Given the description of an element on the screen output the (x, y) to click on. 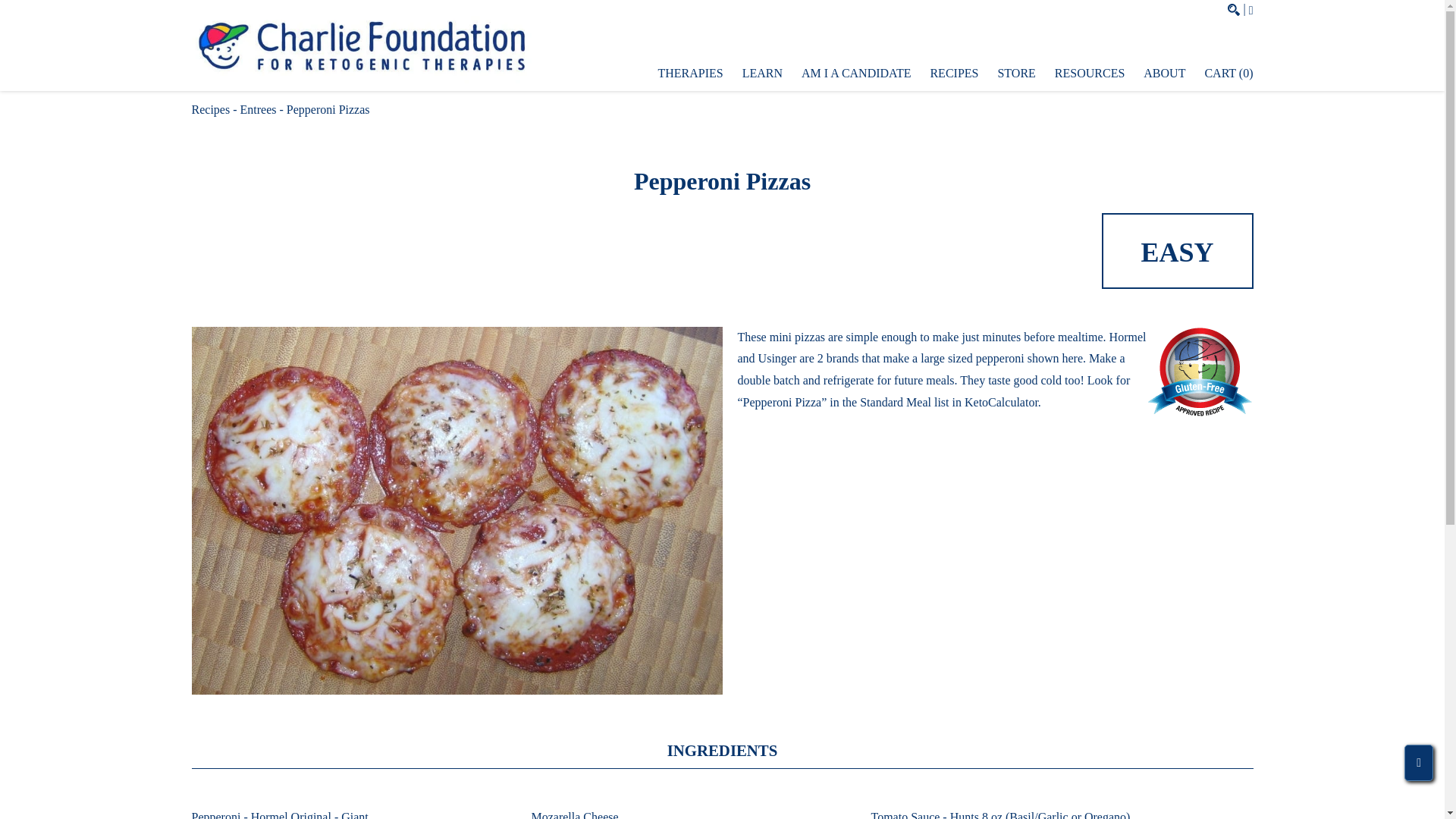
ABOUT (1163, 72)
STORE (1016, 72)
RECIPES (954, 72)
THERAPIES (690, 72)
Recipes (210, 109)
Entrees (258, 109)
RESOURCES (1089, 72)
AM I A CANDIDATE (856, 72)
LEARN (762, 72)
